Given the description of an element on the screen output the (x, y) to click on. 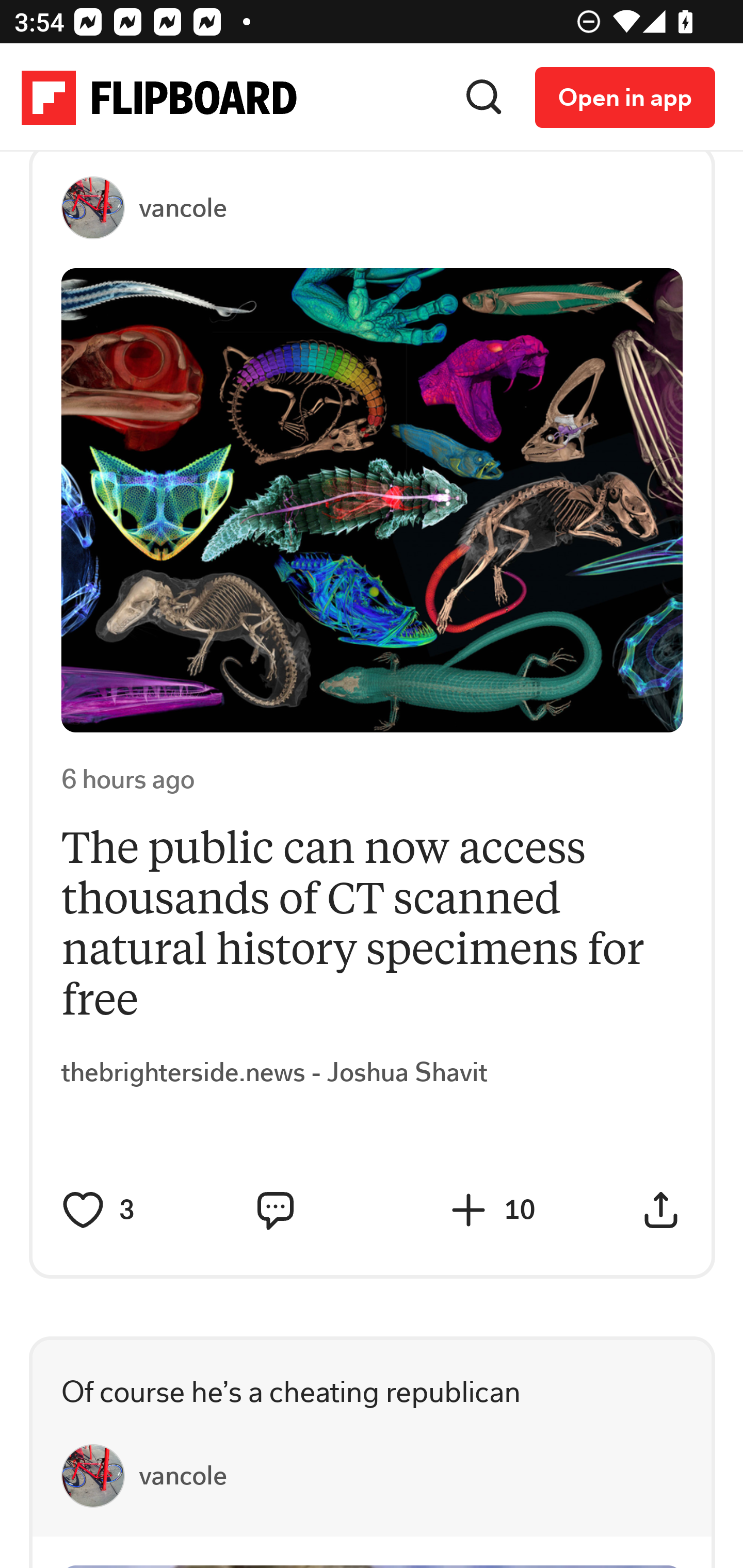
Open in app (625, 97)
Search (484, 97)
Avatar - vancole (101, 209)
vancole (182, 208)
thebrighterside.news - Joshua Shavit (274, 1073)
Like (83, 1211)
comment (274, 1211)
Flip (468, 1211)
Share (661, 1211)
3 (146, 1210)
10 (531, 1210)
Avatar - vancole (101, 1476)
vancole (182, 1476)
